Given the description of an element on the screen output the (x, y) to click on. 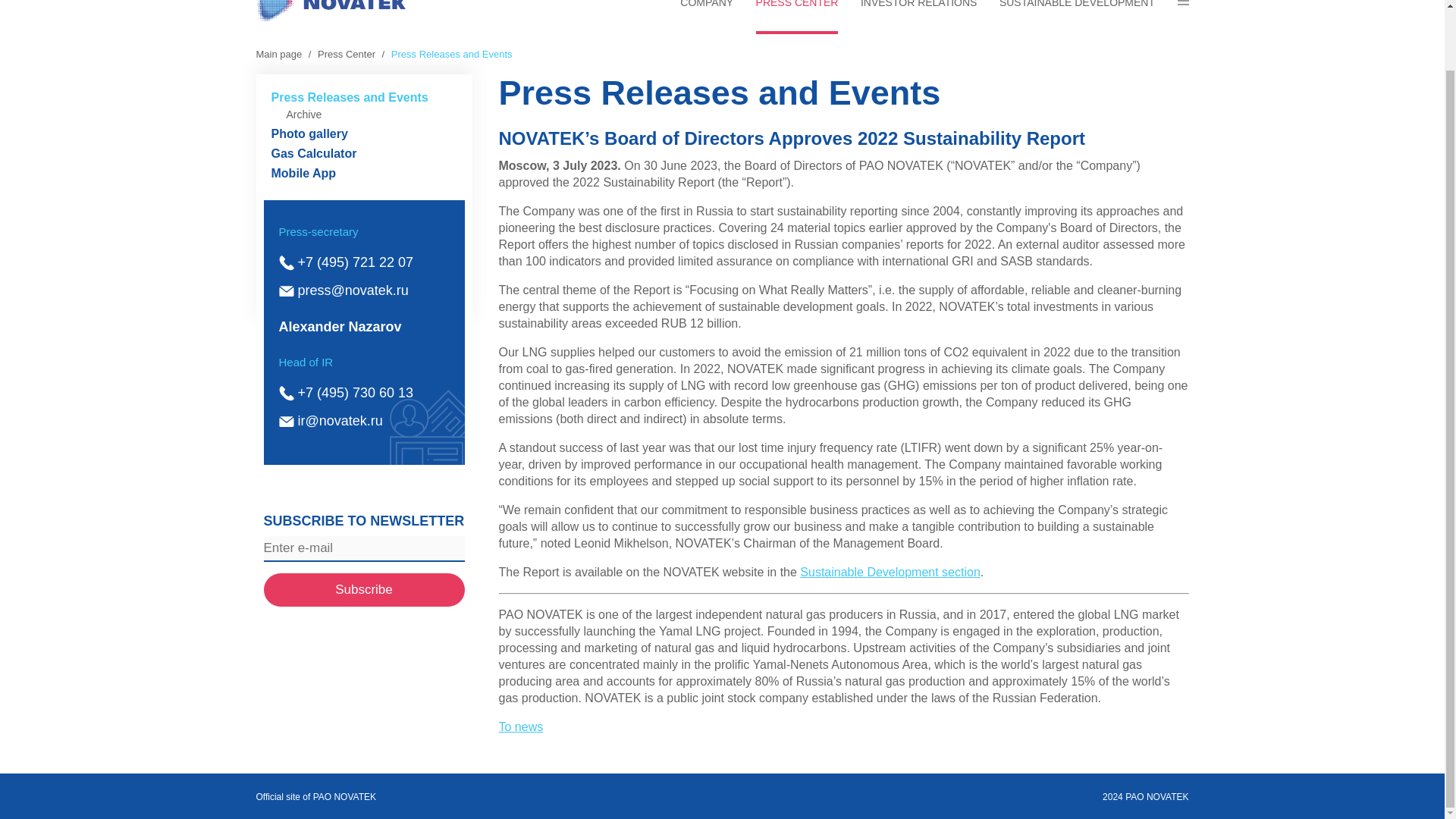
SUSTAINABLE DEVELOPMENT (1076, 17)
INVESTOR RELATIONS (918, 17)
PRESS CENTER (796, 17)
Subscribe (363, 589)
COMPANY (706, 17)
